Given the description of an element on the screen output the (x, y) to click on. 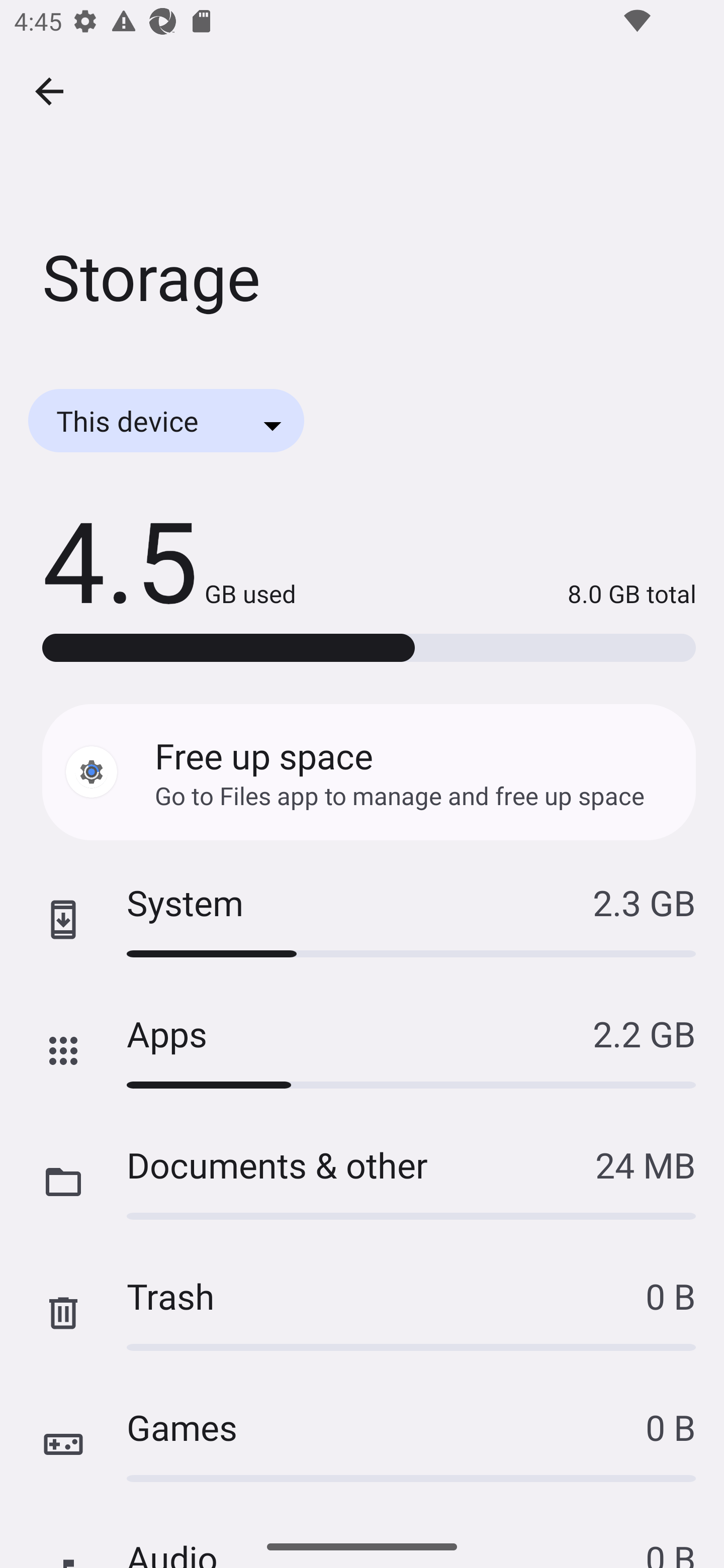
Navigate up (49, 91)
This device (166, 419)
System 2.3 GB 28.0 (362, 920)
Apps 2.2 GB 27.0 (362, 1051)
Documents & other 24 MB 0.0 (362, 1182)
Trash 0 B 0.0 (362, 1313)
Games 0 B 0.0 (362, 1443)
